Given the description of an element on the screen output the (x, y) to click on. 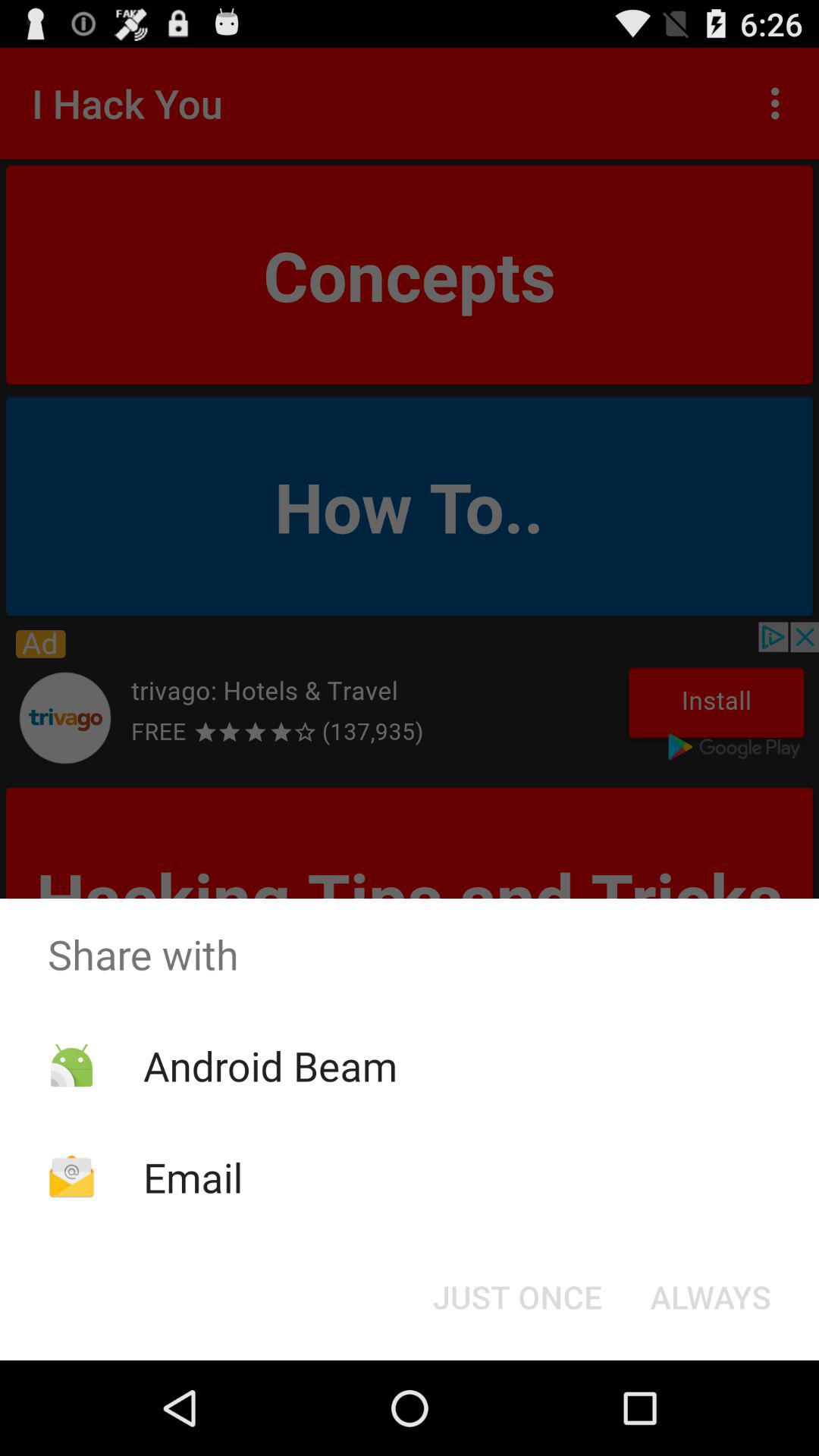
turn on email icon (192, 1176)
